Given the description of an element on the screen output the (x, y) to click on. 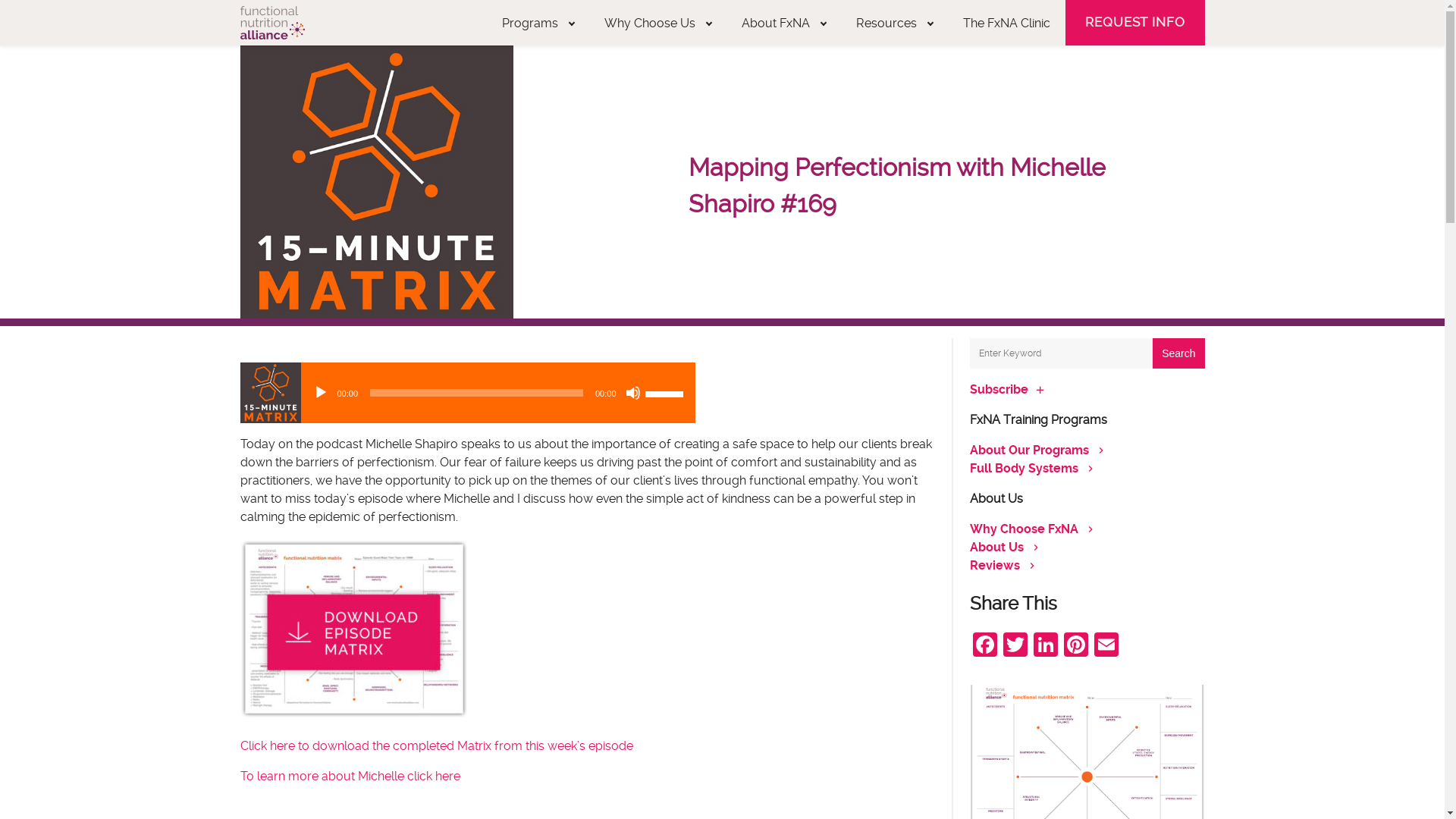
LinkedIn Element type: text (1044, 646)
Facebook Element type: text (984, 646)
REQUEST INFO Element type: text (1134, 22)
Why Choose FxNA Element type: text (1023, 528)
Search Element type: text (1178, 353)
About Us Element type: text (995, 546)
Programs Element type: text (537, 22)
About Our Programs Element type: text (1028, 449)
Functional Nutrition Alliance logo Element type: hover (271, 23)
Use Up/Down Arrow keys to increase or decrease volume. Element type: text (665, 392)
Subscribe Element type: text (998, 389)
Mute Element type: hover (632, 392)
Why Choose Us Element type: text (657, 22)
The FxNA Clinic Element type: text (1006, 22)
Pinterest Element type: text (1075, 646)
Twitter Element type: text (1014, 646)
Resources Element type: text (893, 22)
To learn more about Michelle click here Element type: text (349, 775)
Play Element type: hover (319, 392)
Reviews Element type: text (994, 565)
About FxNA Element type: text (783, 22)
Full Body Systems Element type: text (1023, 468)
Email Element type: text (1105, 646)
